Given the description of an element on the screen output the (x, y) to click on. 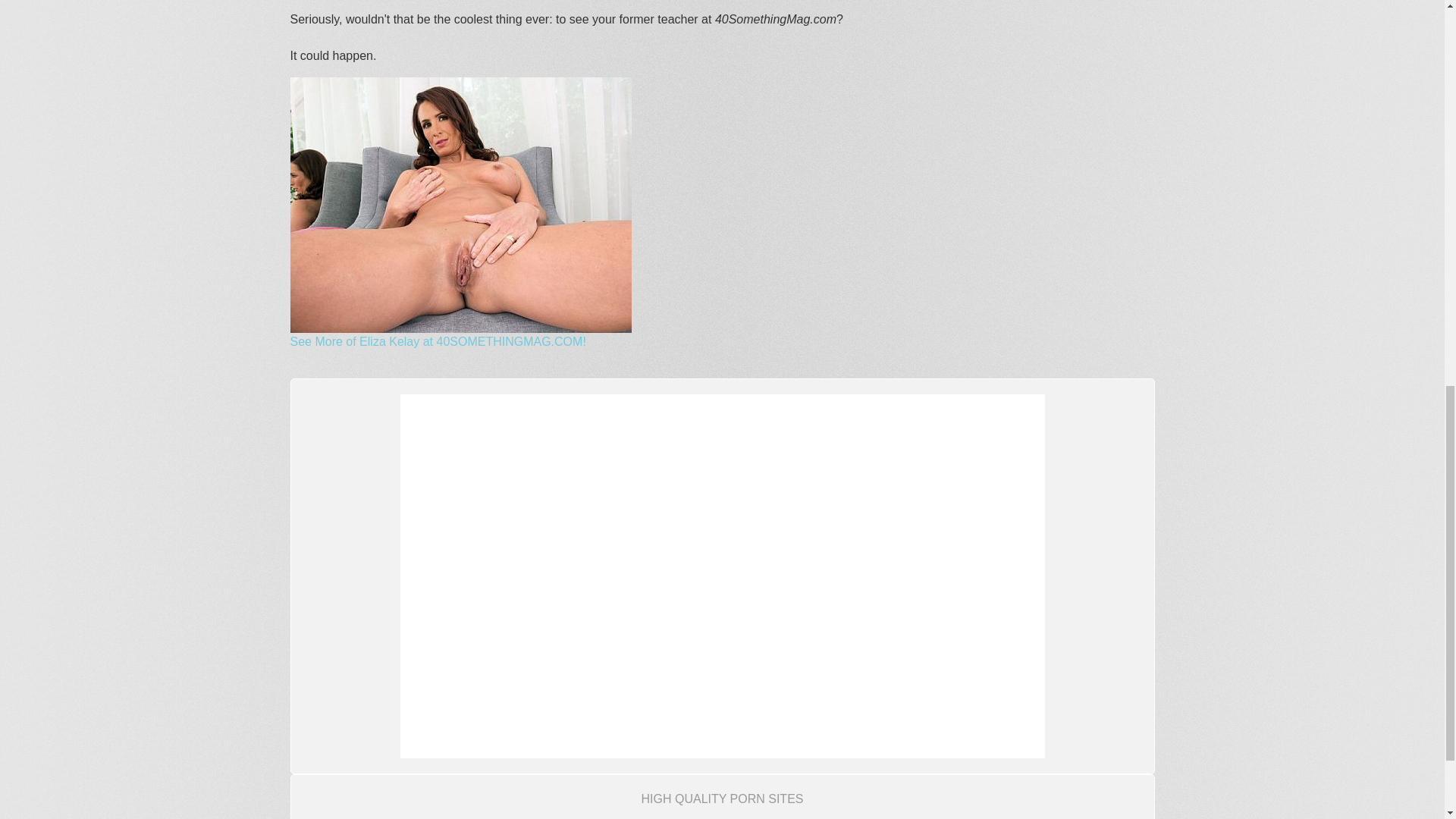
See More of Eliza Kelay at 40SOMETHINGMAG.COM! (437, 341)
Home of Natual 34DD Babe Nikki Sims (664, 818)
Nikki Sims (664, 818)
ImLive (592, 818)
AnalVids Recommended Extreme Porn Videos (524, 818)
AnalVids (524, 818)
Eliza Kelay...That's Mrs. Kelay to her former students (459, 204)
